Given the description of an element on the screen output the (x, y) to click on. 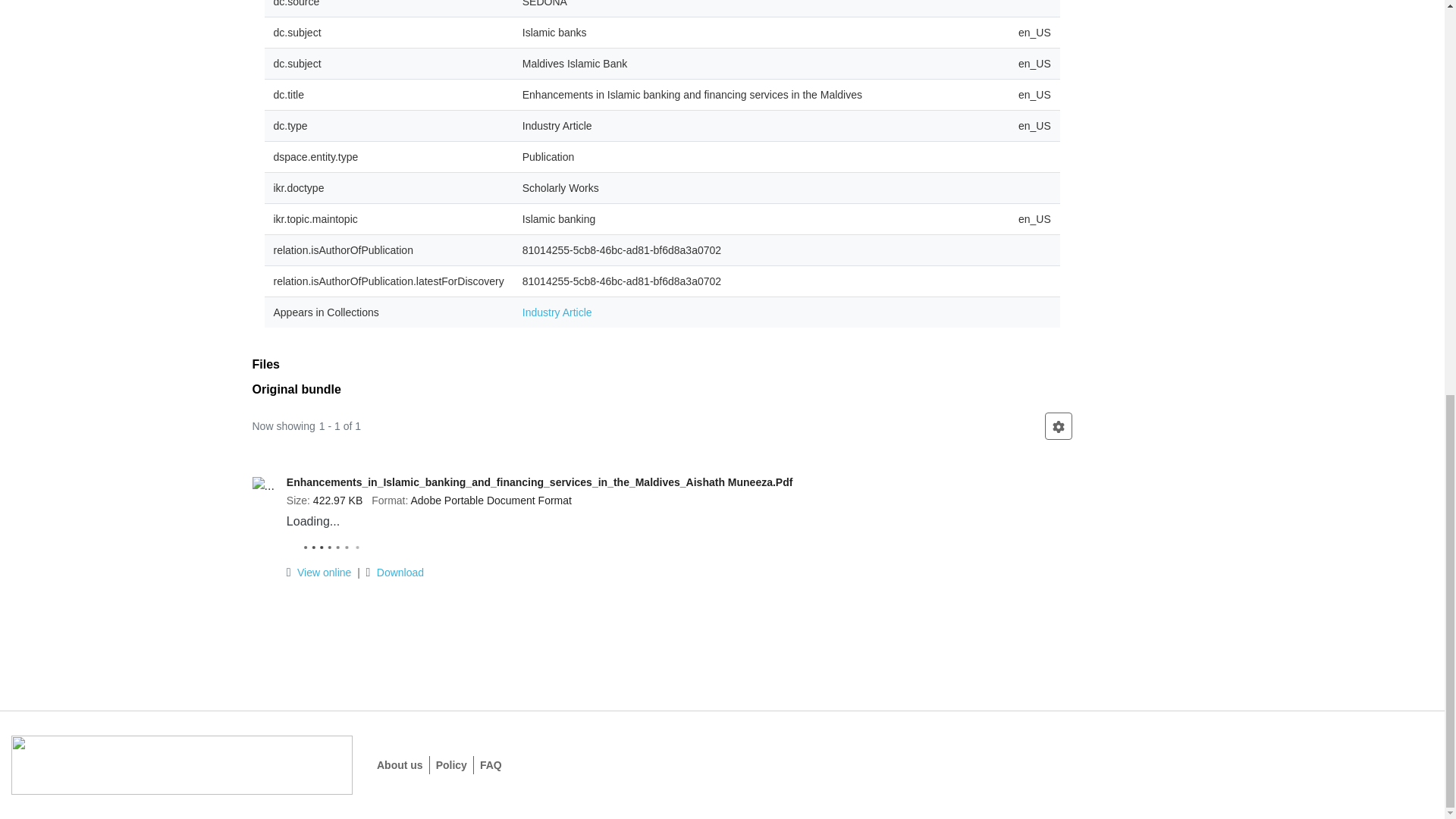
Pagination options (1058, 425)
Industry Article (557, 312)
